Given the description of an element on the screen output the (x, y) to click on. 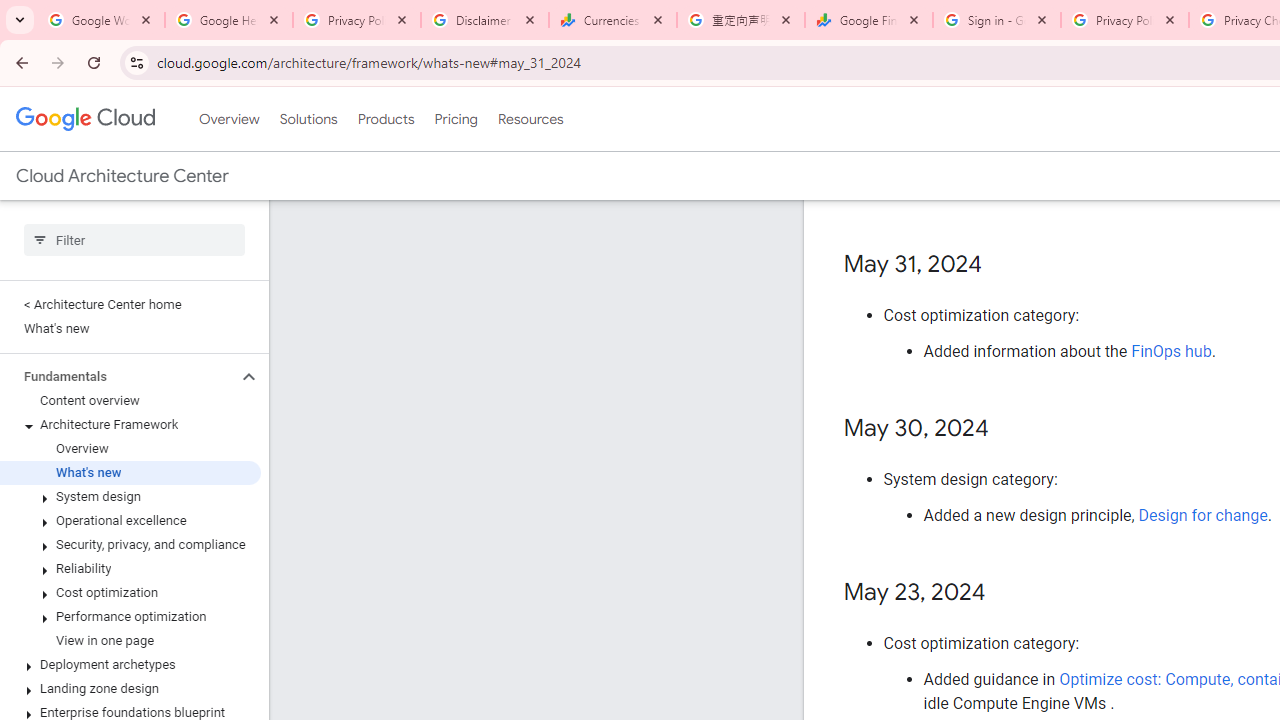
Design for change (1202, 515)
Type to filter (134, 239)
Reliability (130, 569)
Google Cloud (84, 118)
Security, privacy, and compliance (130, 544)
Products (385, 119)
Fundamentals (118, 376)
Copy link to this section: May 23, 2024 (1005, 593)
Google Workspace Admin Community (101, 20)
